Given the description of an element on the screen output the (x, y) to click on. 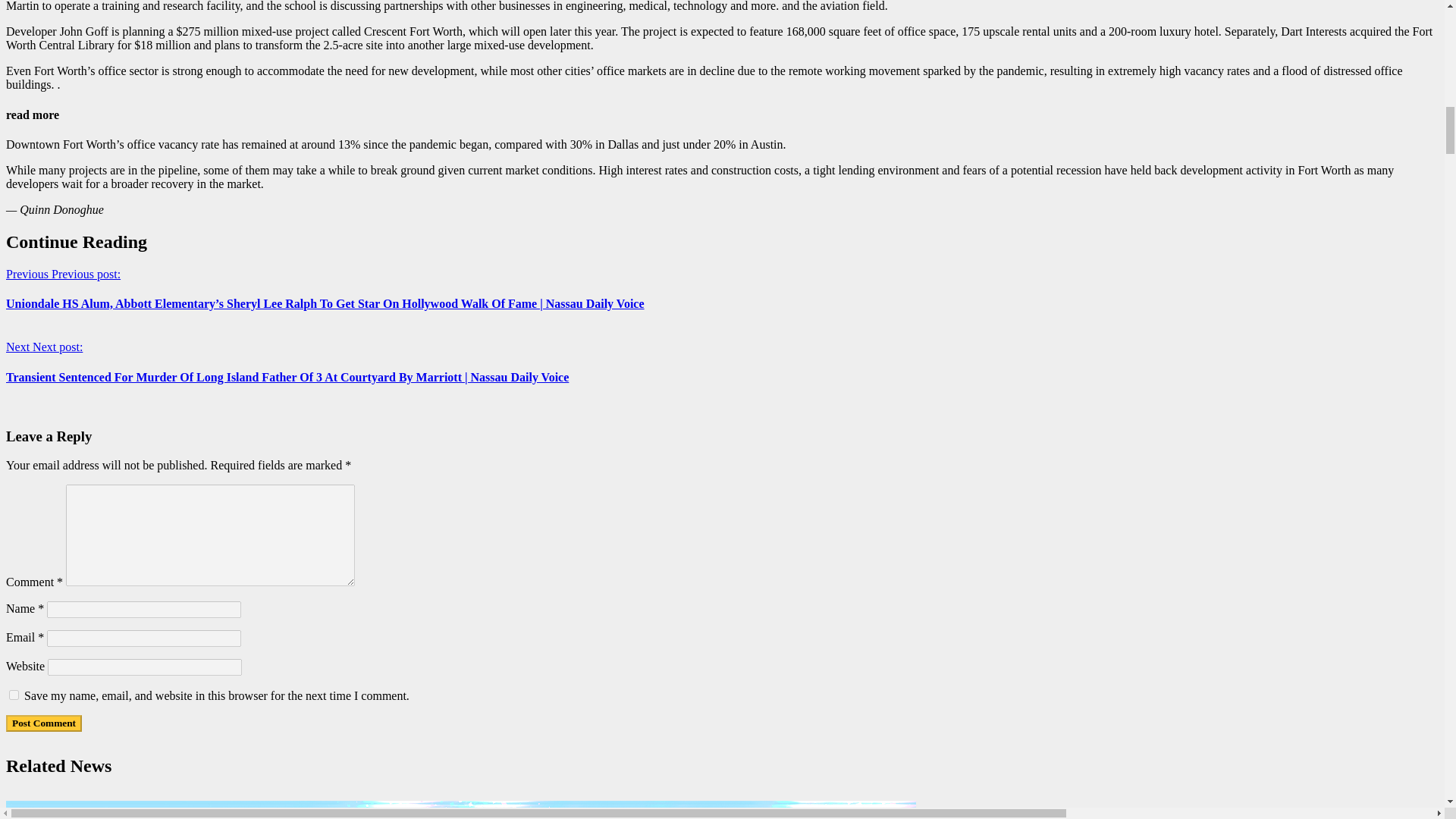
Post Comment (43, 723)
Post Comment (43, 723)
yes (13, 695)
